Given the description of an element on the screen output the (x, y) to click on. 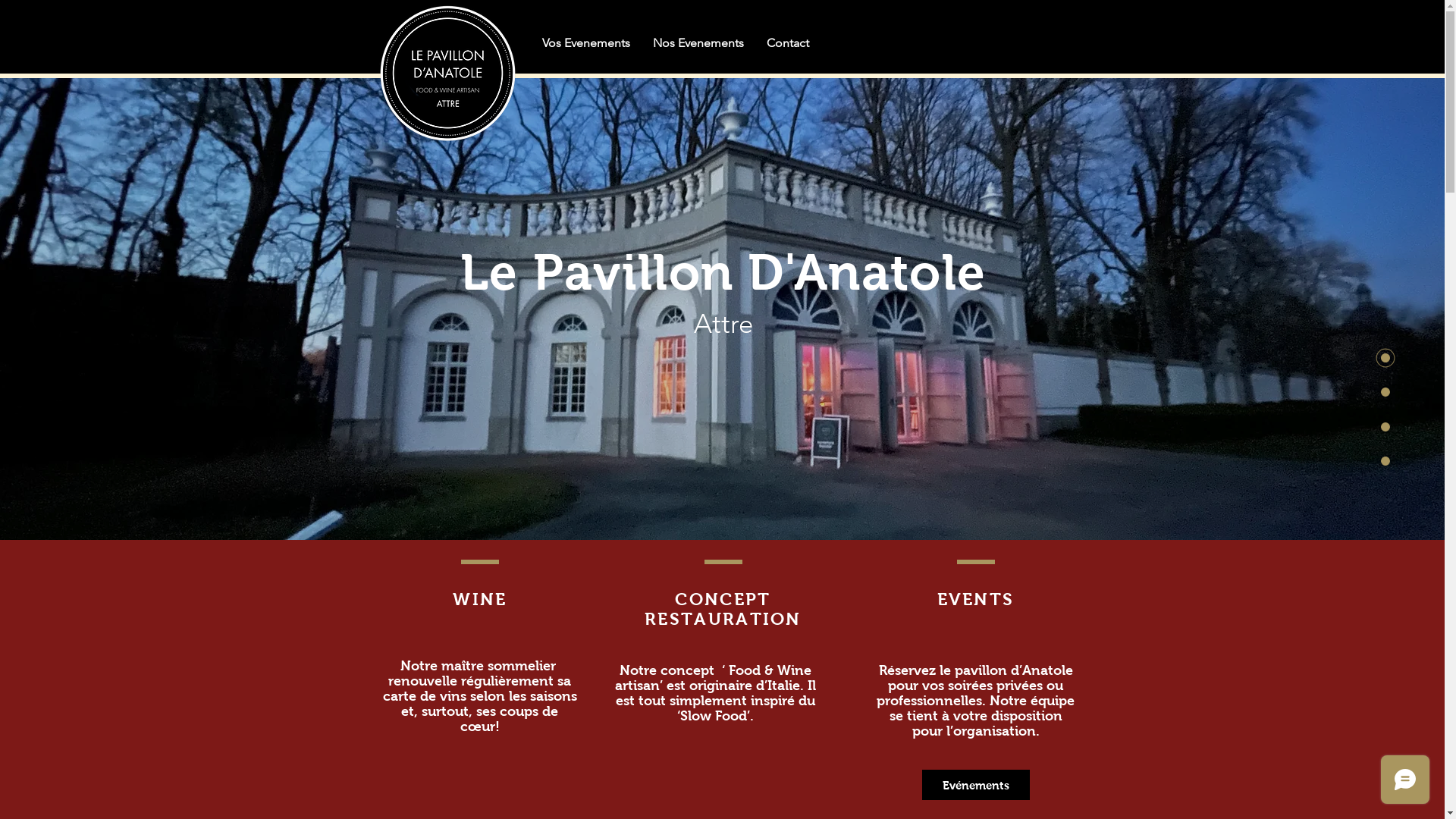
Nos Evenements Element type: text (698, 42)
Vos Evenements Element type: text (585, 42)
Contact Element type: text (787, 42)
